Given the description of an element on the screen output the (x, y) to click on. 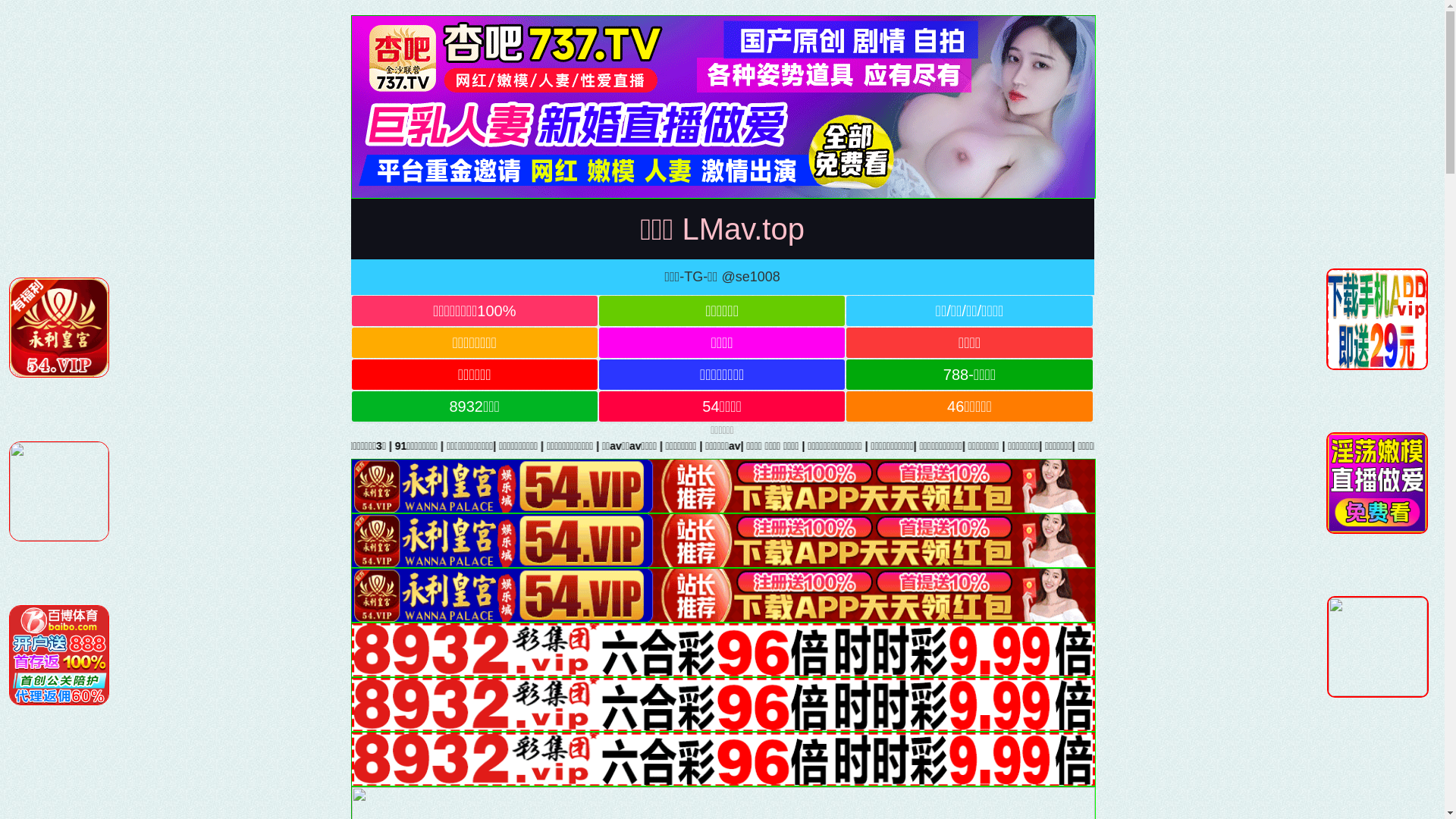
| Element type: text (1002, 445)
| Element type: text (500, 445)
| Element type: text (1444, 445)
| Element type: text (850, 445)
| Element type: text (1359, 445)
| Element type: text (636, 445)
| Element type: text (1255, 445)
| Element type: text (1293, 445)
| Element type: text (1390, 445)
| Element type: text (804, 445)
| Element type: text (550, 445)
| Element type: text (456, 445)
| Element type: text (1101, 445)
| Element type: text (1328, 445)
| Element type: text (430, 445)
| Element type: text (1162, 445)
| Element type: text (1042, 445)
| Element type: text (593, 445)
| Element type: text (753, 445)
| Element type: text (1209, 445)
| Element type: text (964, 445)
| Element type: text (902, 445)
| Element type: text (703, 445)
